Given the description of an element on the screen output the (x, y) to click on. 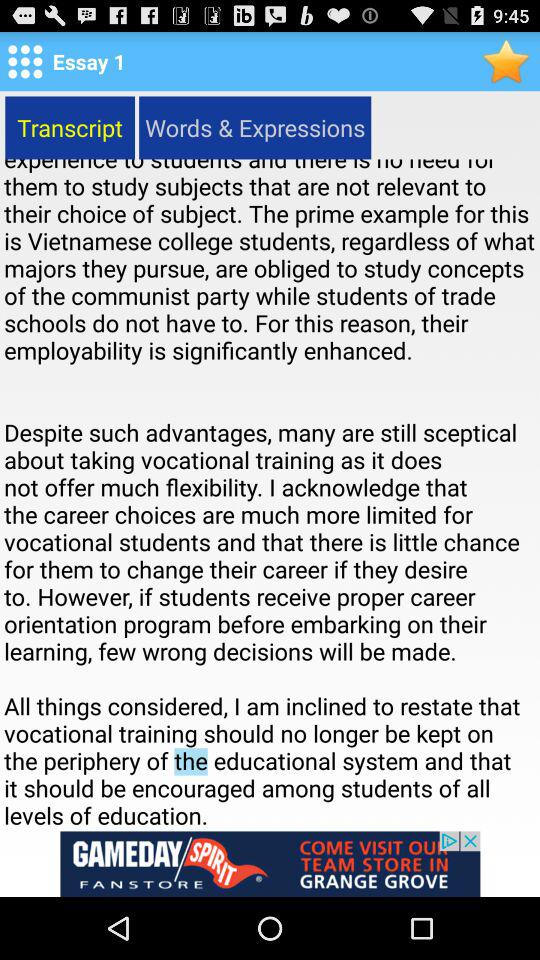
click menu option (25, 61)
